Given the description of an element on the screen output the (x, y) to click on. 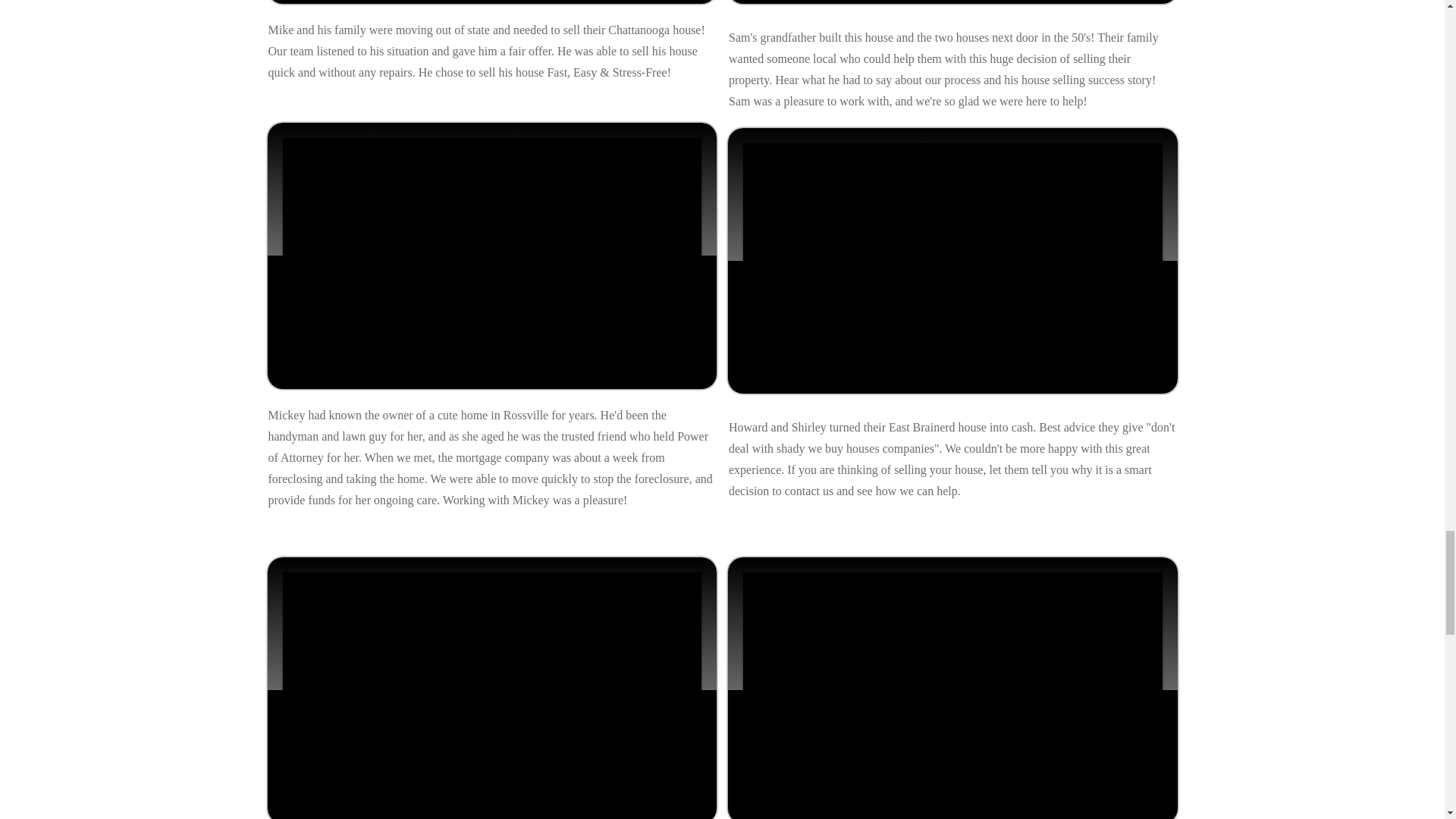
Responsive Video (491, 690)
Responsive Video (951, 690)
Responsive Video (951, 261)
Responsive Video (491, 255)
